Given the description of an element on the screen output the (x, y) to click on. 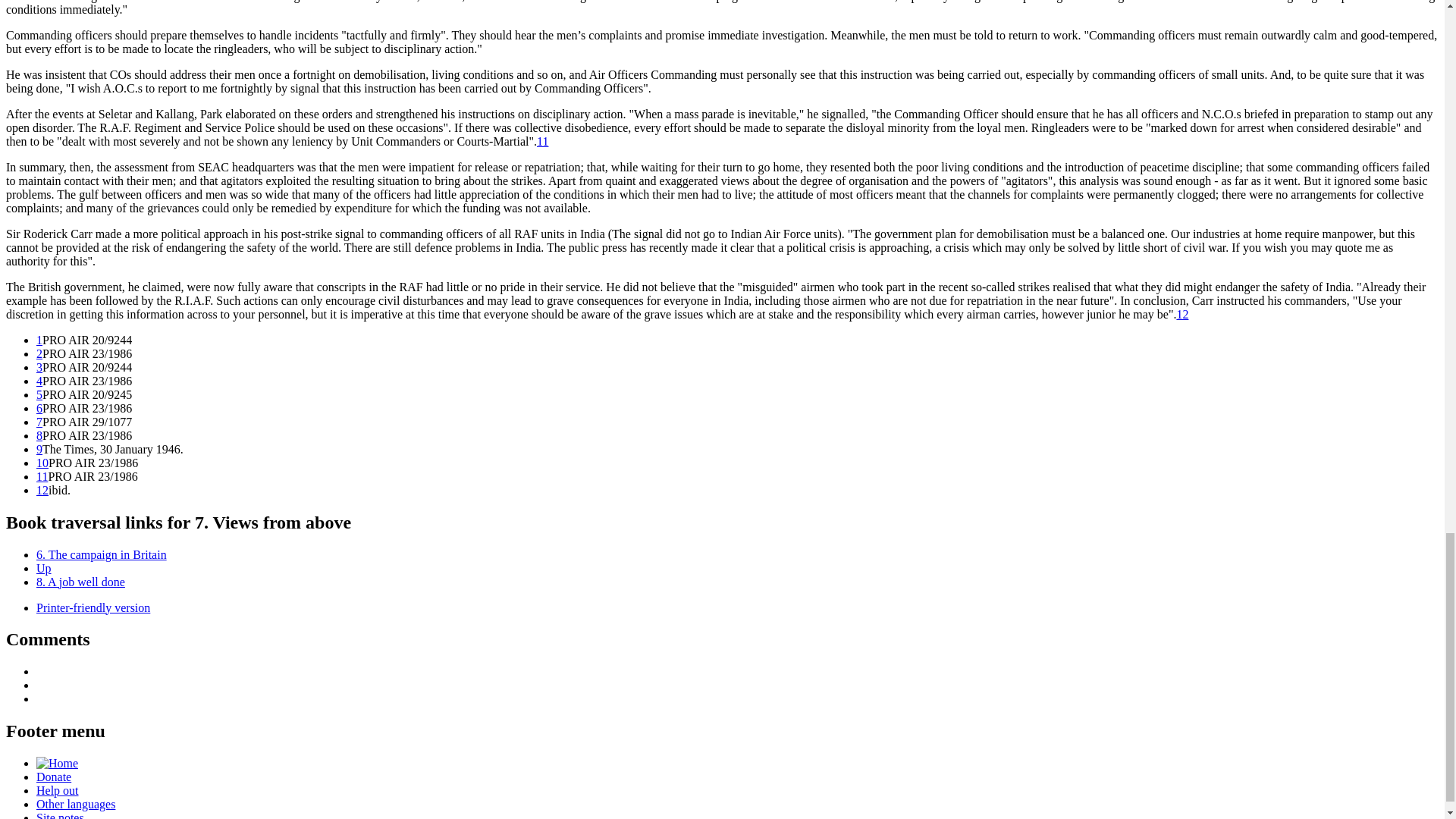
Go to parent page (43, 567)
10 (42, 462)
Go to next page (80, 581)
12 (1182, 314)
ibid. (1182, 314)
Go to previous page (101, 553)
